Given the description of an element on the screen output the (x, y) to click on. 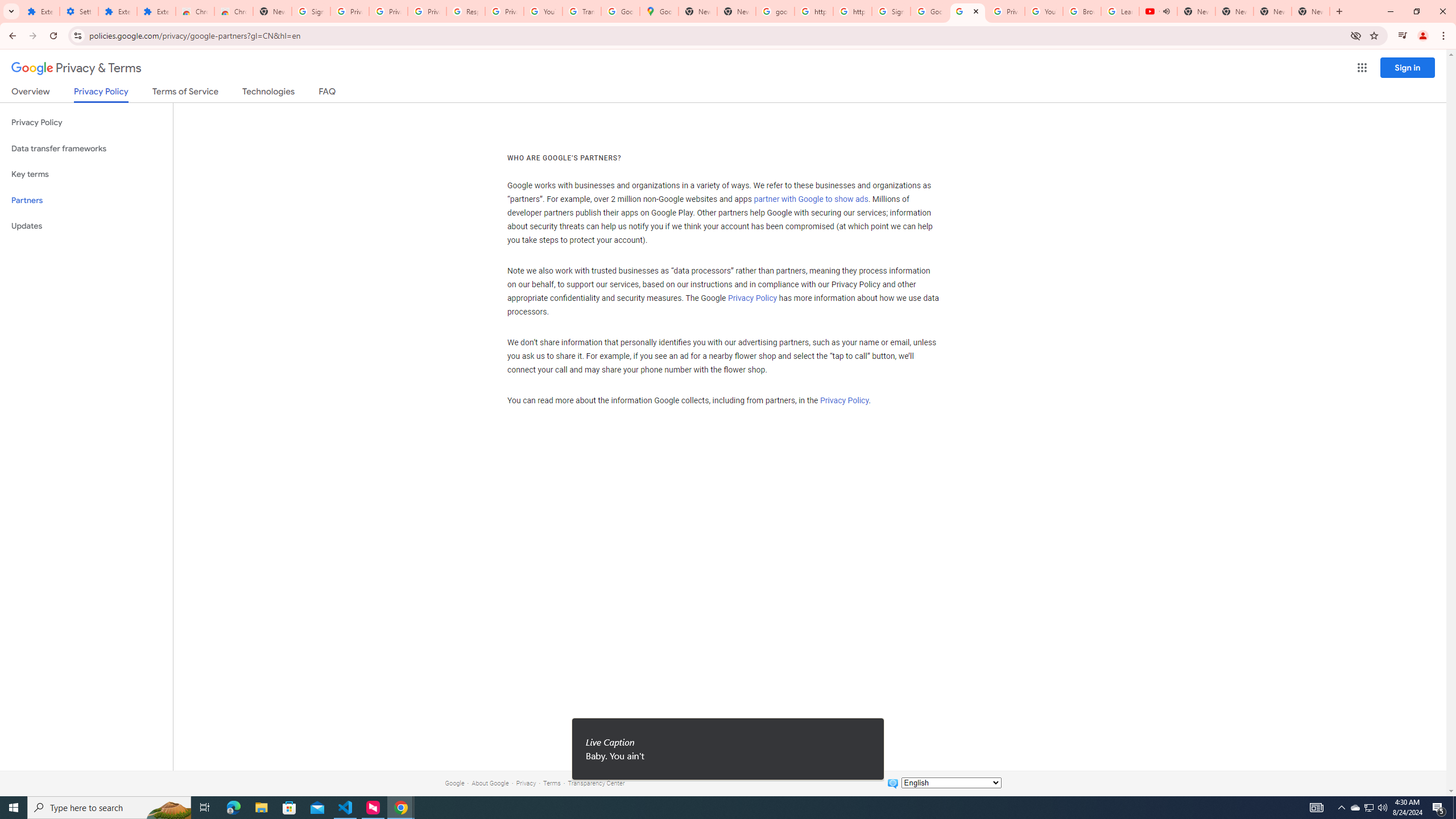
Transparency Center (595, 783)
New Tab (272, 11)
Chrome Web Store (194, 11)
Extensions (156, 11)
Sign in - Google Accounts (890, 11)
